Given the description of an element on the screen output the (x, y) to click on. 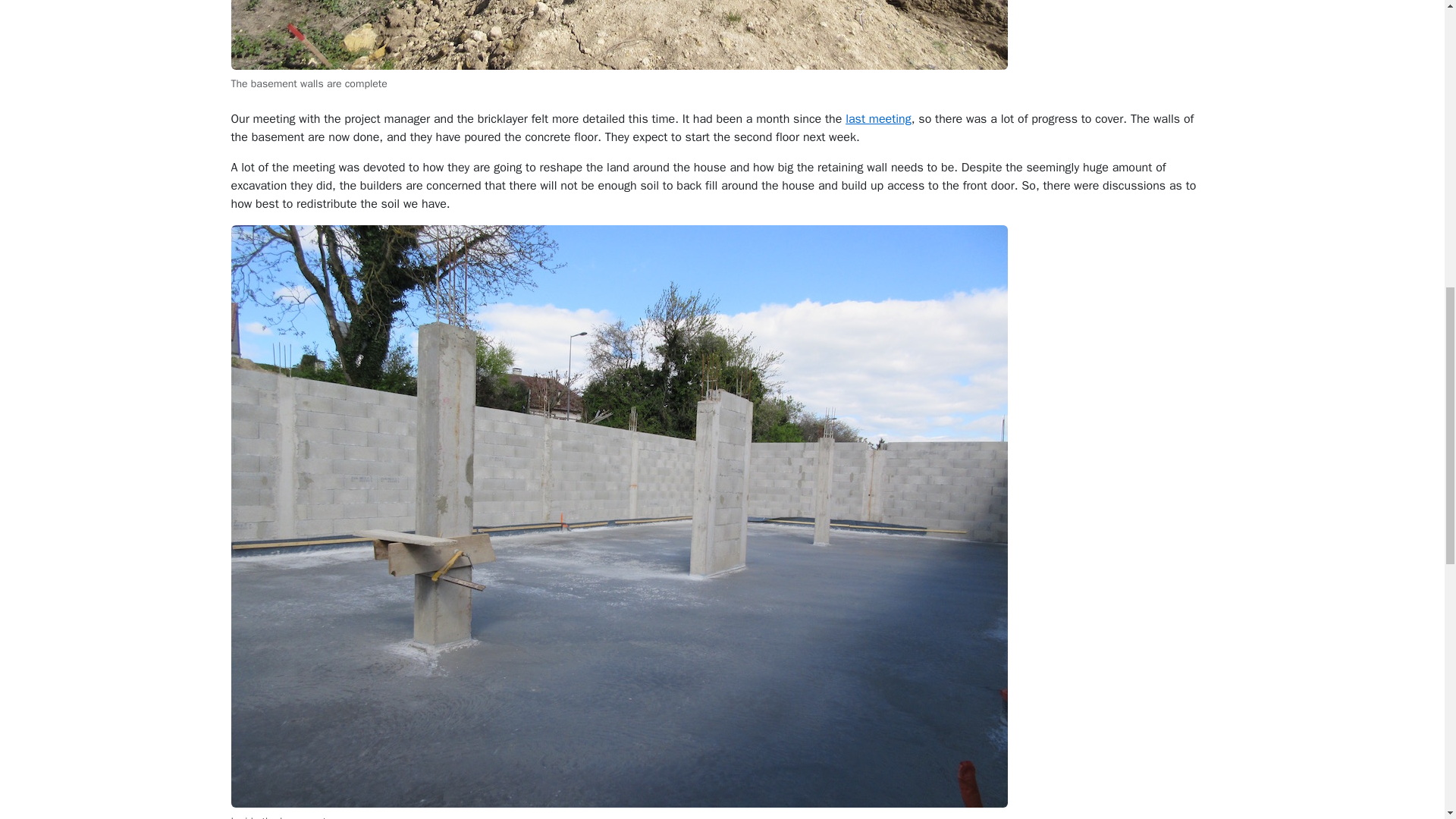
The basement walls are complete (618, 34)
last meeting (878, 118)
